Given the description of an element on the screen output the (x, y) to click on. 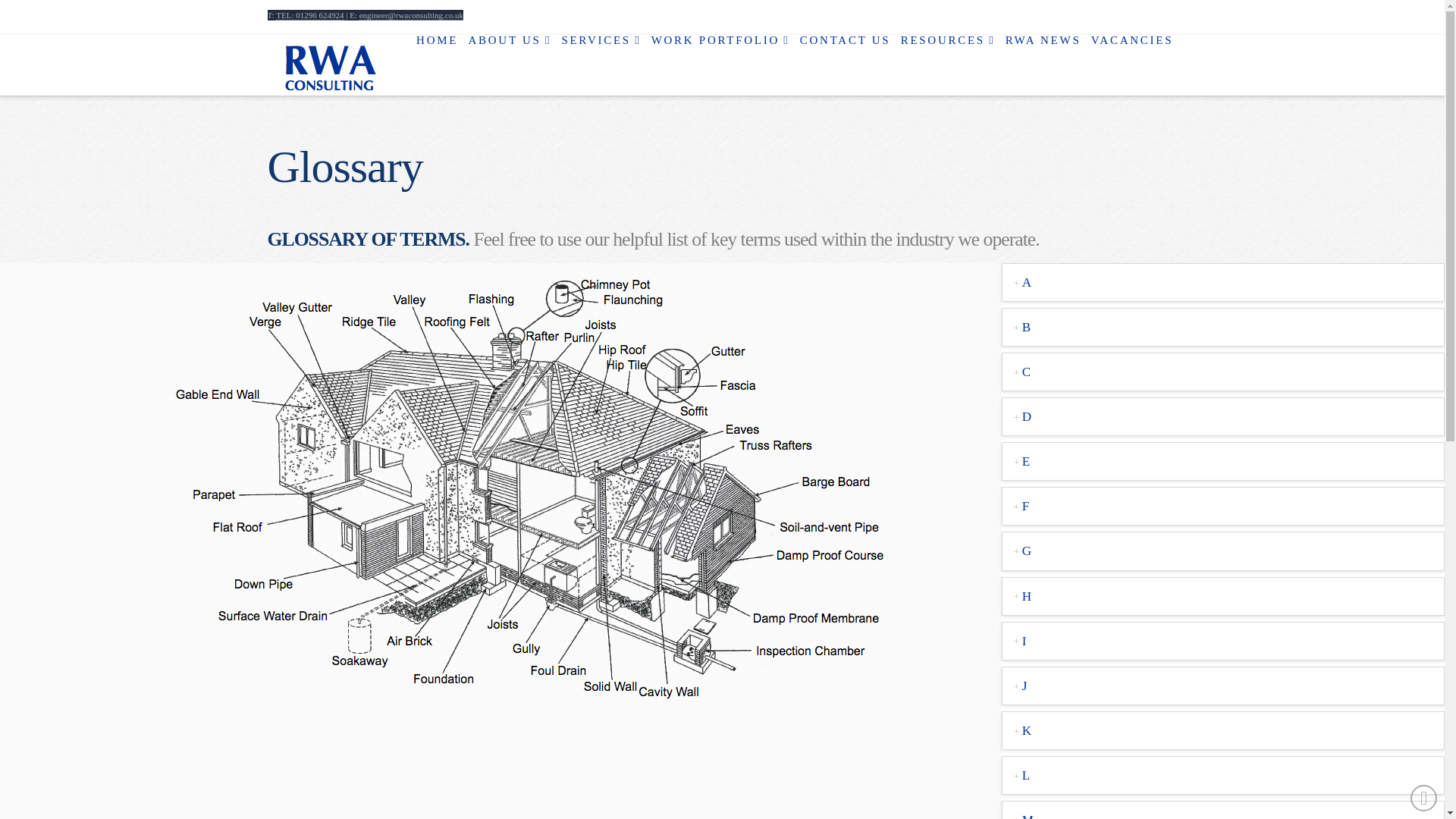
Back to Top (1423, 797)
WORK PORTFOLIO (719, 57)
TEL: 01296 624924 (309, 15)
RESOURCES (946, 57)
SERVICES (599, 57)
HOME (435, 57)
CONTACT US (844, 57)
VACANCIES (1130, 57)
ABOUT US (507, 57)
RWA NEWS (1041, 57)
